Given the description of an element on the screen output the (x, y) to click on. 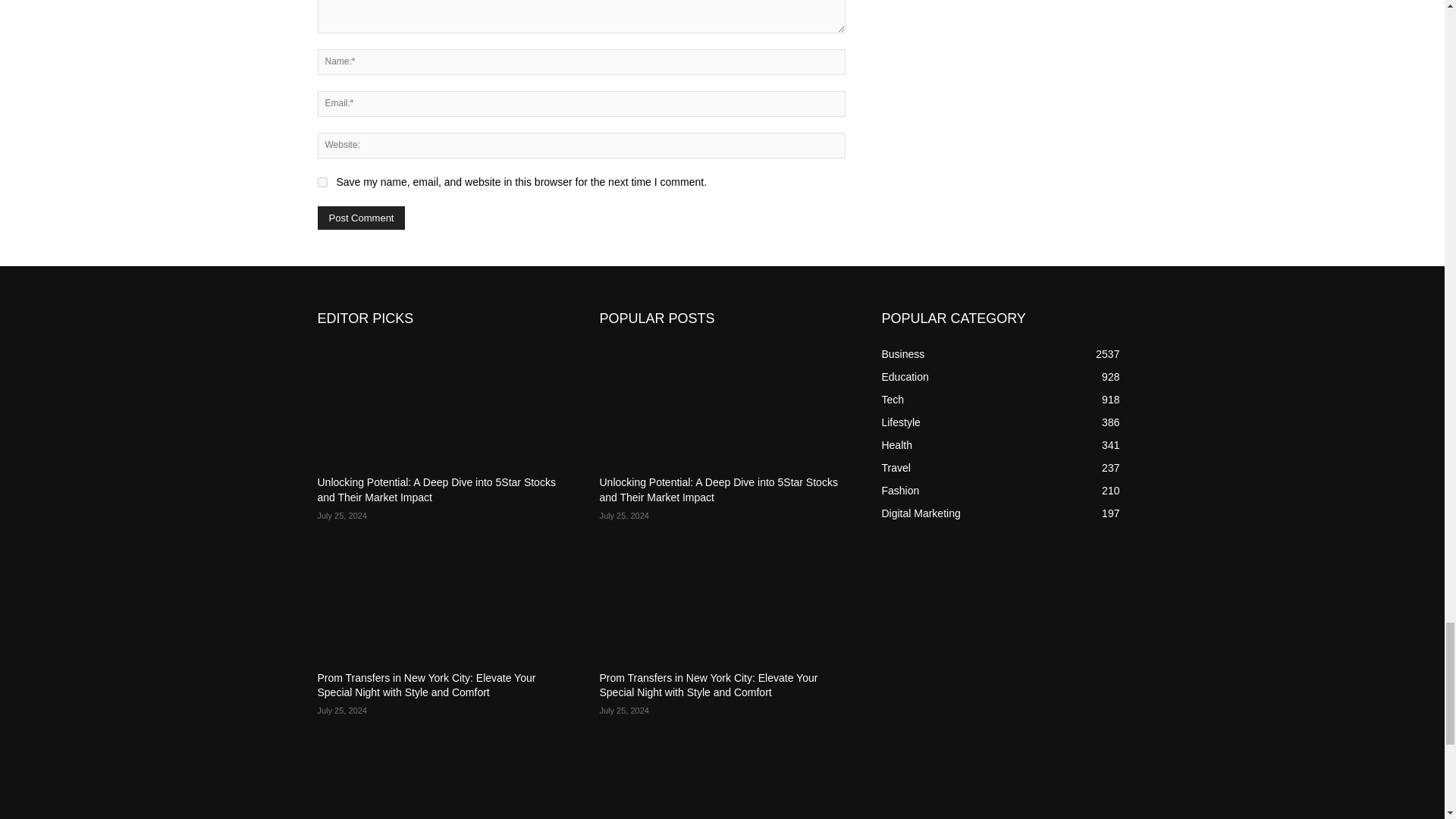
Post Comment (360, 218)
yes (321, 182)
